Given the description of an element on the screen output the (x, y) to click on. 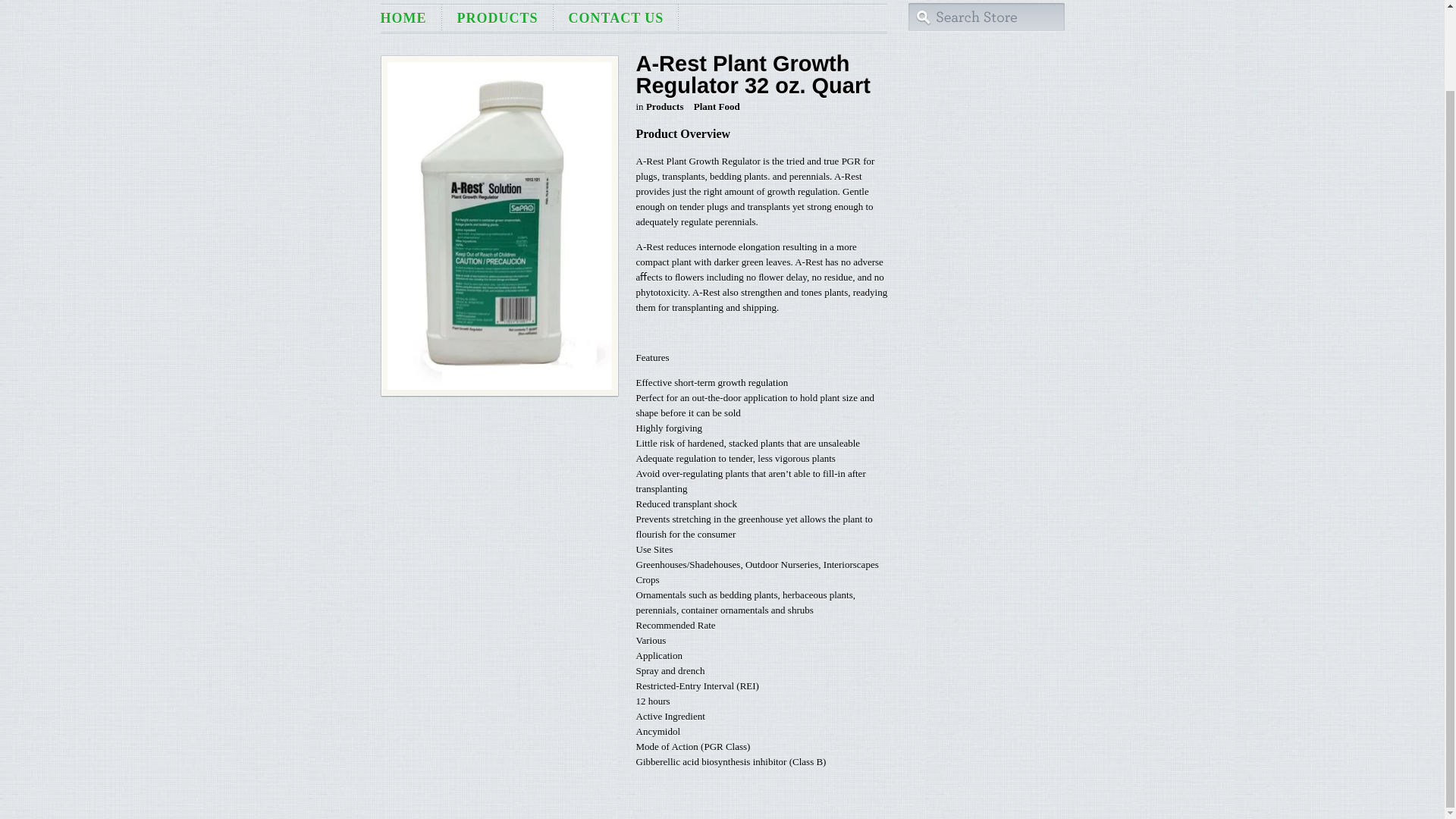
PRODUCTS (497, 18)
CONTACT US (616, 18)
Products (665, 106)
HOME (411, 18)
Plant Food (716, 106)
